Given the description of an element on the screen output the (x, y) to click on. 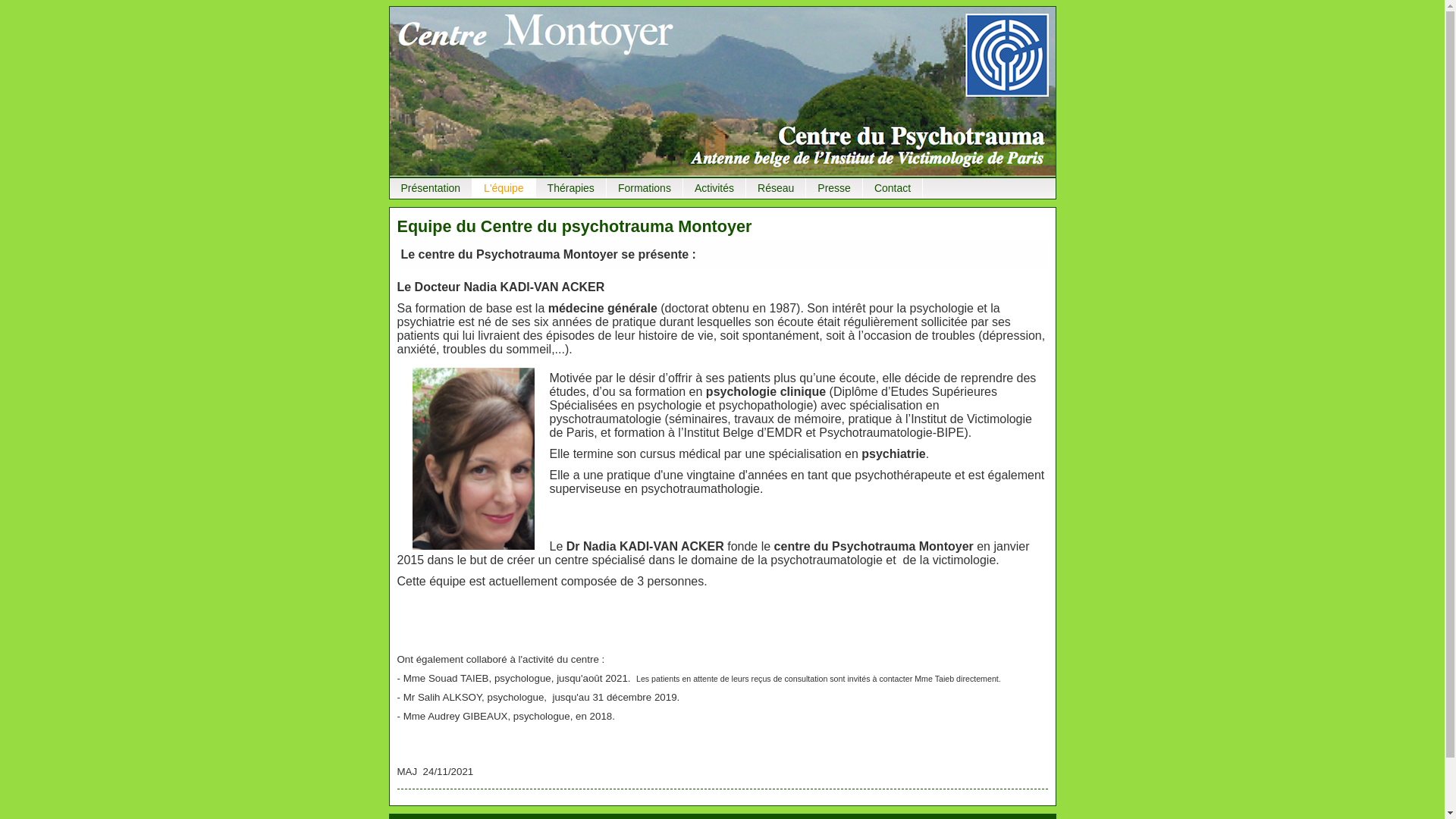
Presse Element type: text (834, 187)
Formations Element type: text (644, 187)
Contact Element type: text (892, 187)
